Given the description of an element on the screen output the (x, y) to click on. 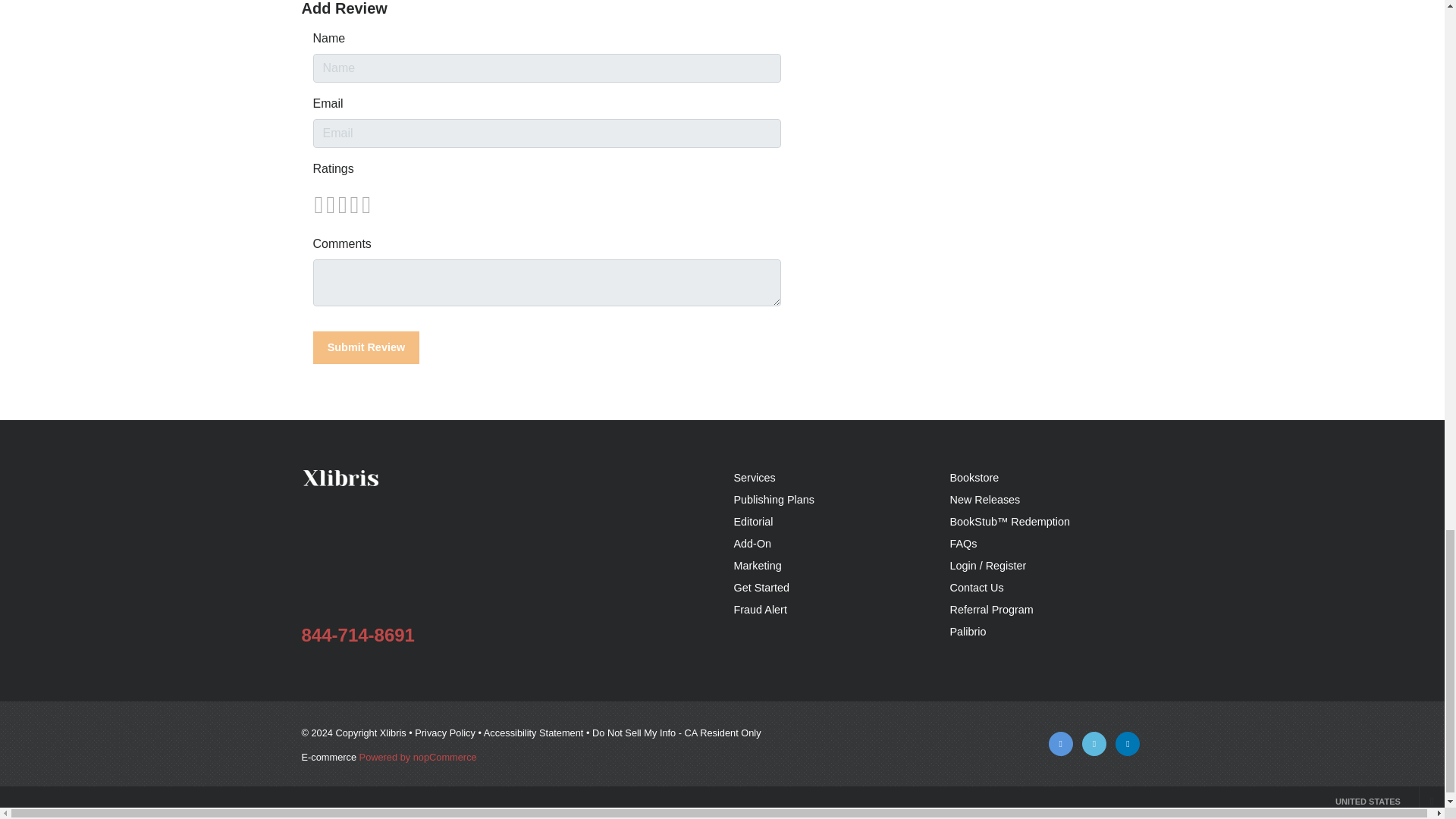
Not Rated (342, 204)
Services (754, 477)
Submit Review (366, 346)
Publishing Plans (773, 499)
844-714-8691 (357, 634)
Submit Review (366, 346)
